Given the description of an element on the screen output the (x, y) to click on. 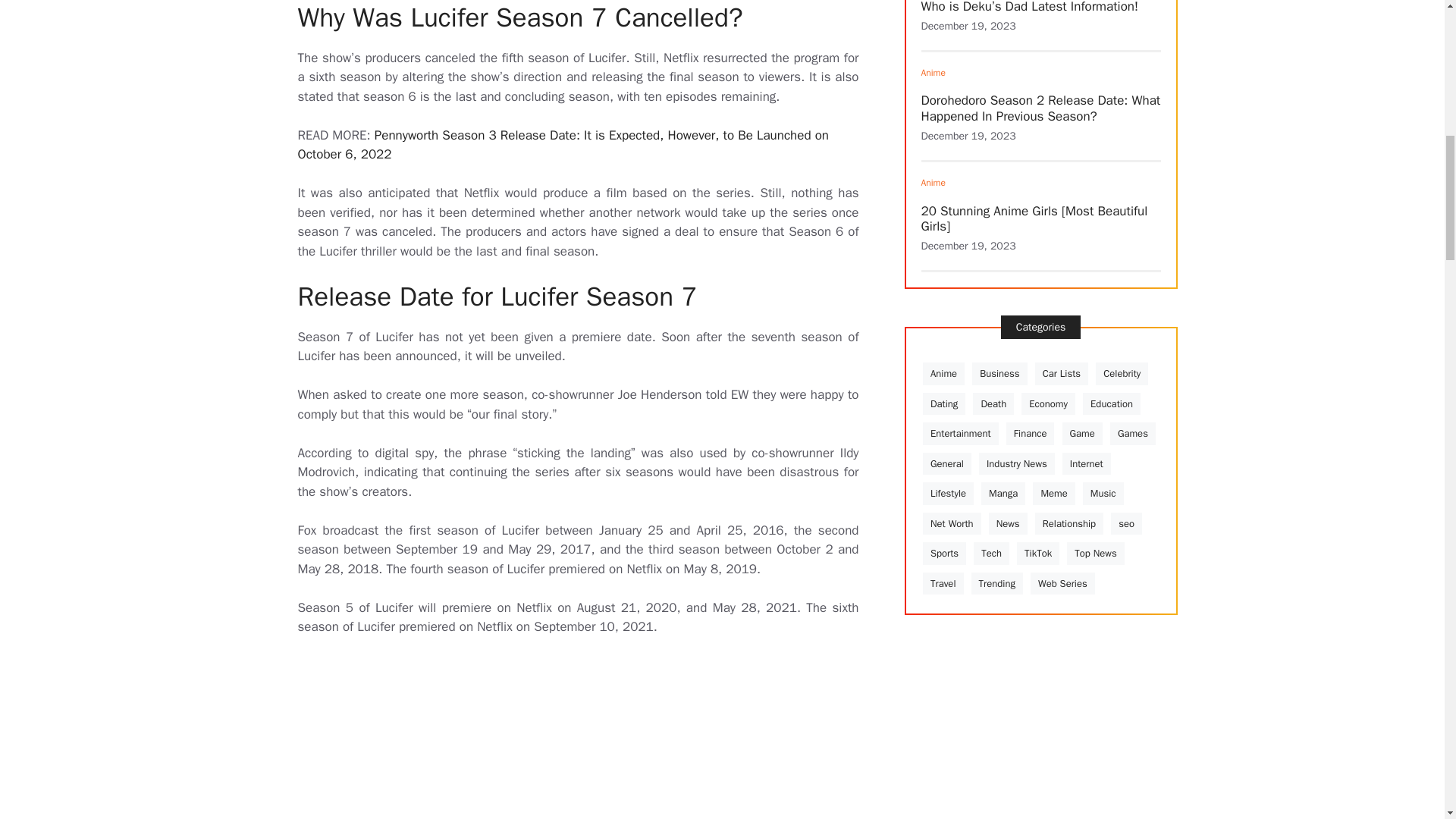
Anime (932, 182)
Anime (932, 72)
Scroll back to top (1406, 720)
